Given the description of an element on the screen output the (x, y) to click on. 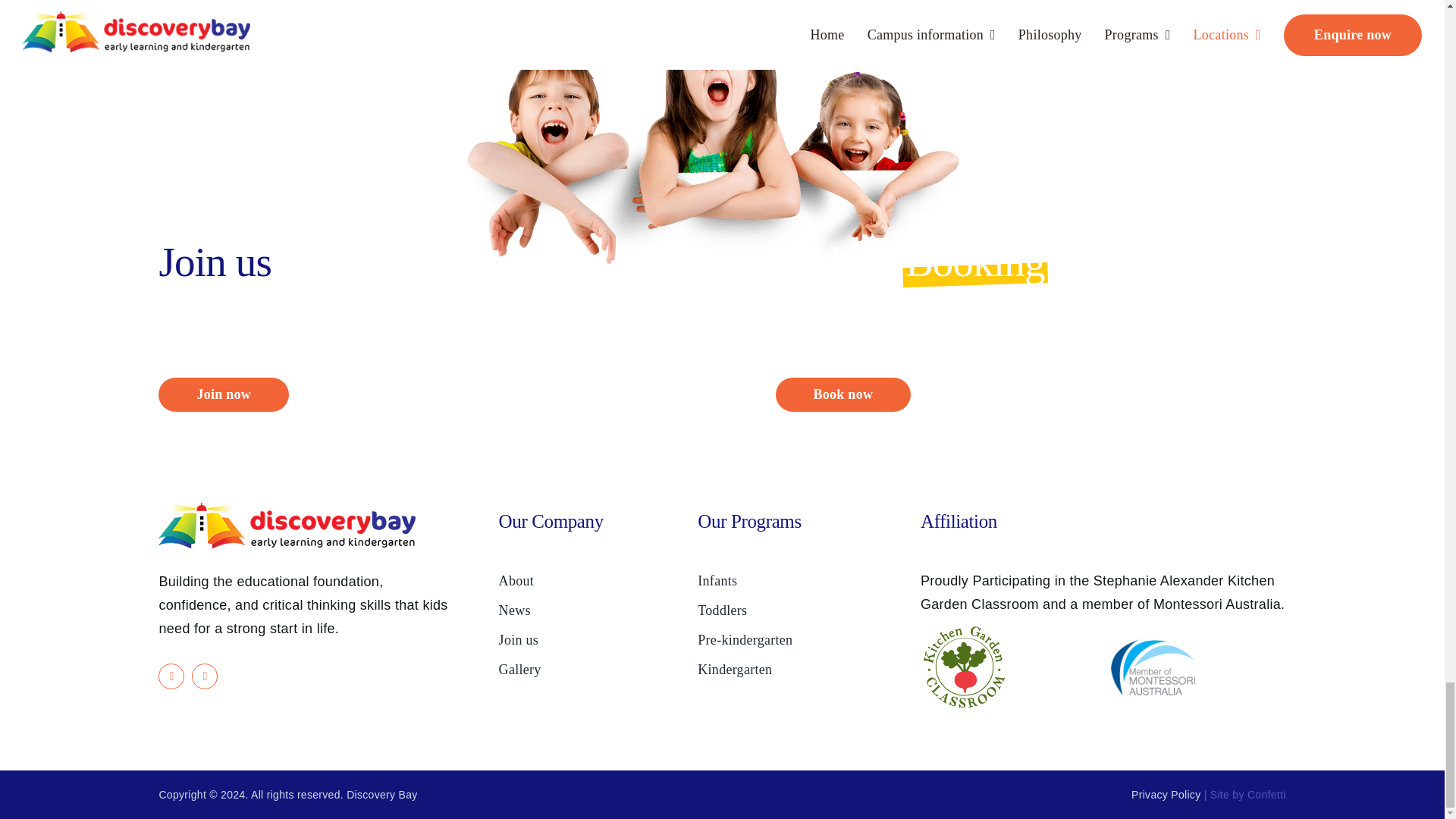
Book now (842, 394)
Join now (223, 394)
